Given the description of an element on the screen output the (x, y) to click on. 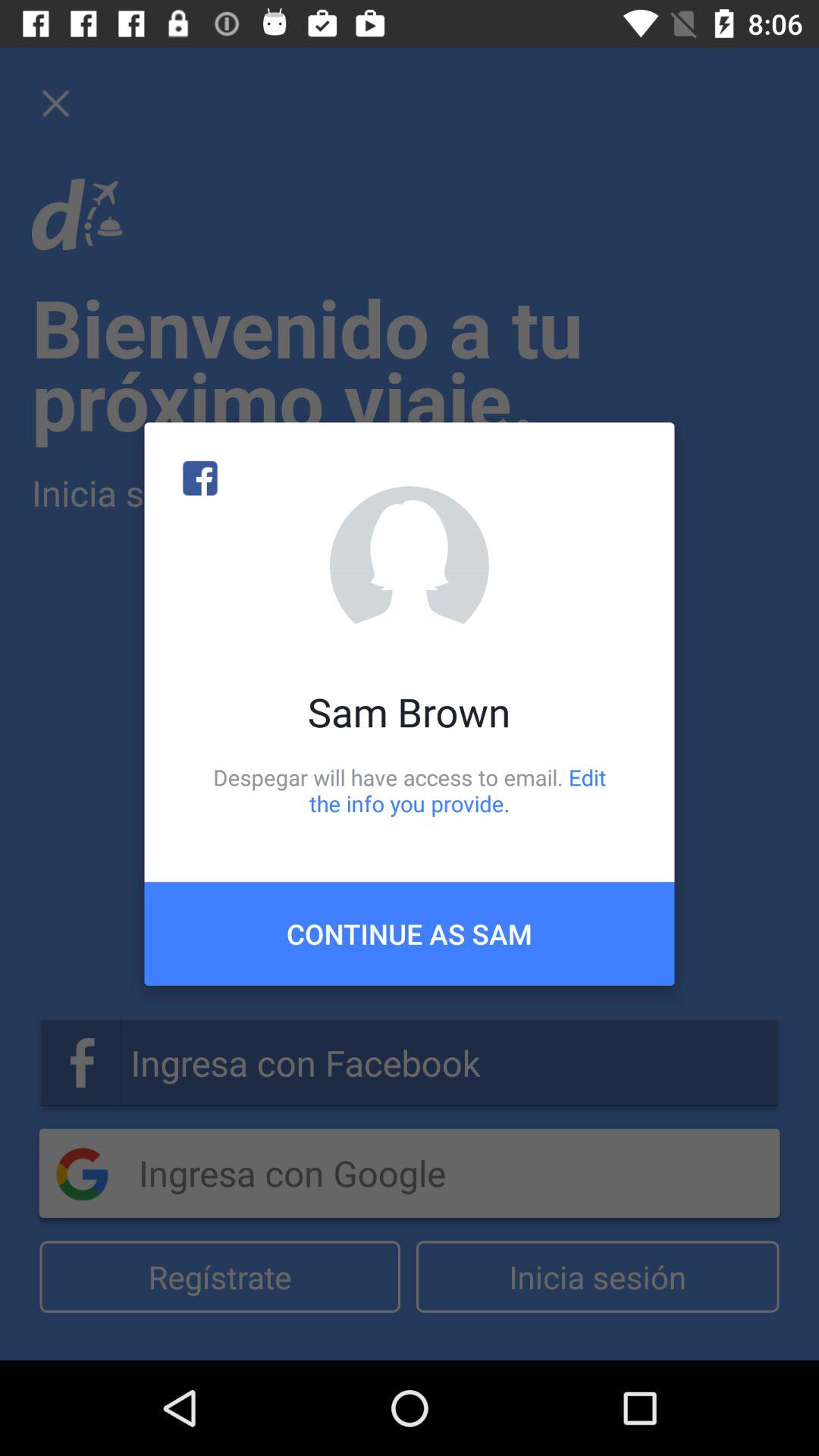
open despegar will have icon (409, 790)
